Given the description of an element on the screen output the (x, y) to click on. 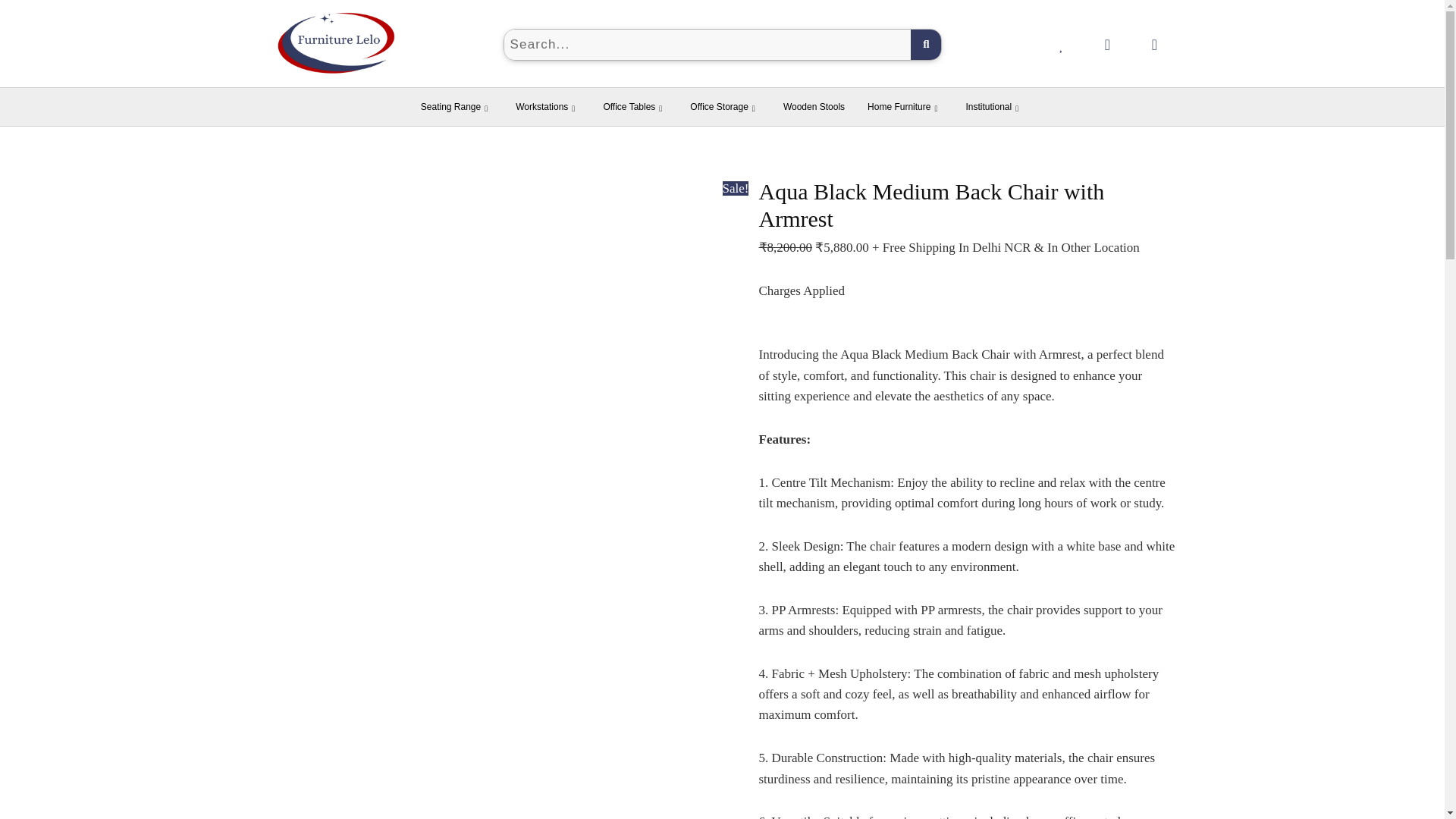
Search (707, 44)
Workstations (547, 106)
Office Storage (724, 106)
Wooden Stools (813, 106)
Home Furniture (904, 106)
Office Tables (634, 106)
Seating Range (456, 106)
